Given the description of an element on the screen output the (x, y) to click on. 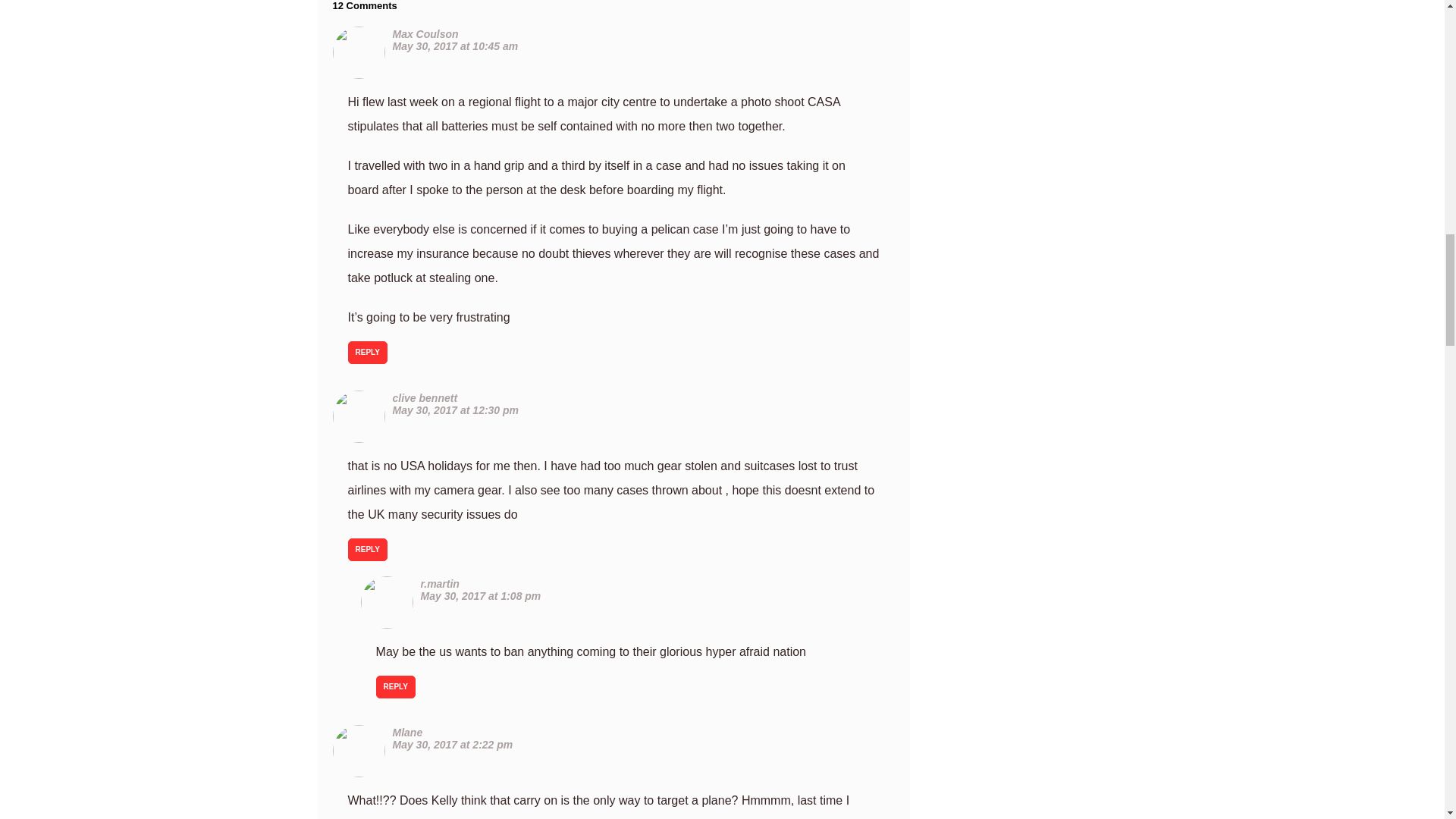
May 30, 2017 at 10:45 am (455, 46)
May 30, 2017 at 12:30 pm (456, 410)
REPLY (394, 686)
May 30, 2017 at 1:08 pm (480, 595)
REPLY (367, 549)
May 30, 2017 at 2:22 pm (453, 744)
REPLY (367, 352)
